Given the description of an element on the screen output the (x, y) to click on. 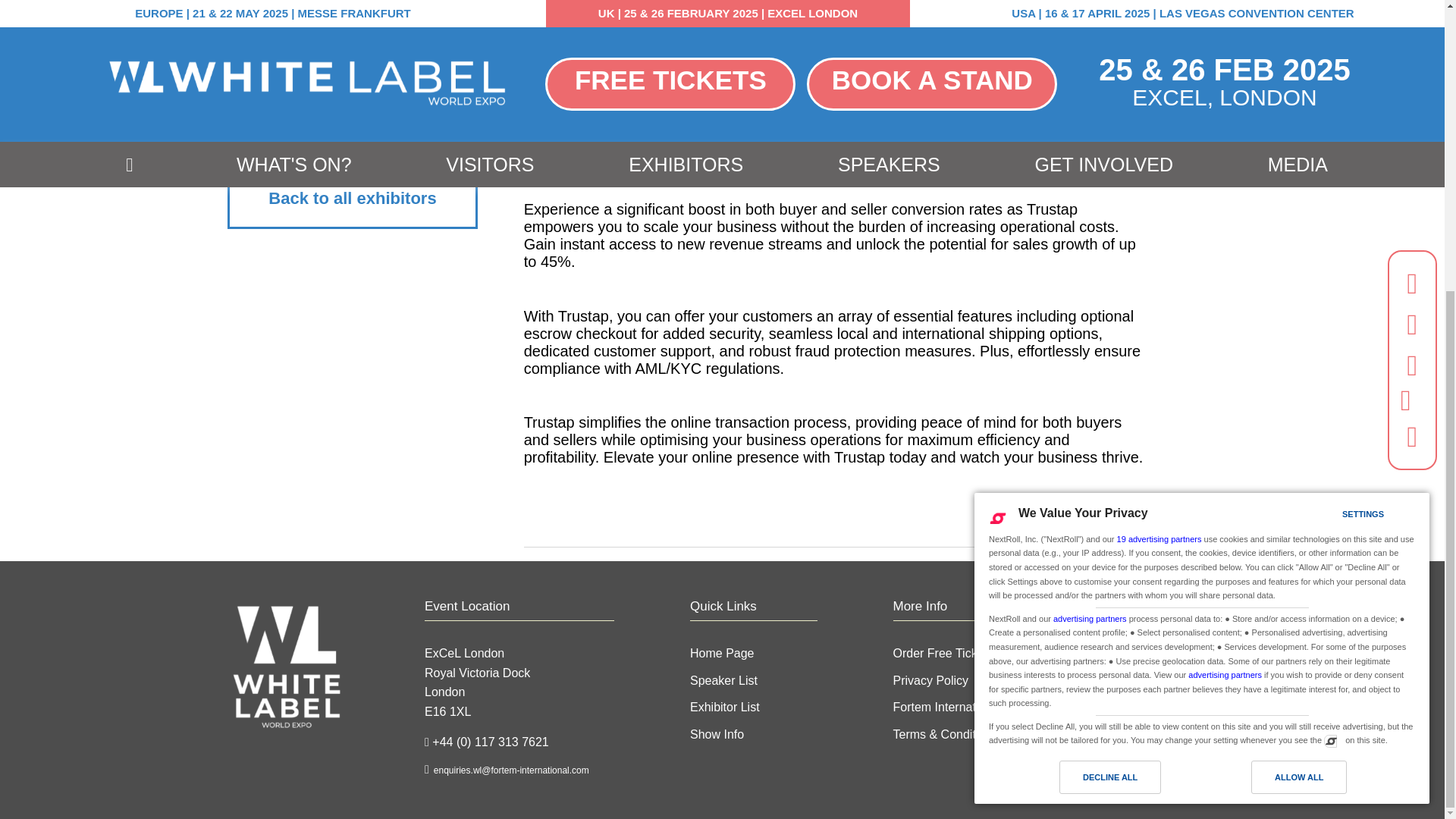
Manage consent preferences (1330, 297)
Fortem International website (947, 707)
Email Event Director us (509, 769)
back to all exhibitors (352, 198)
Order free tickets (942, 653)
Fortem International Privacy policy (931, 680)
Free Tickets (1405, 2)
